Given the description of an element on the screen output the (x, y) to click on. 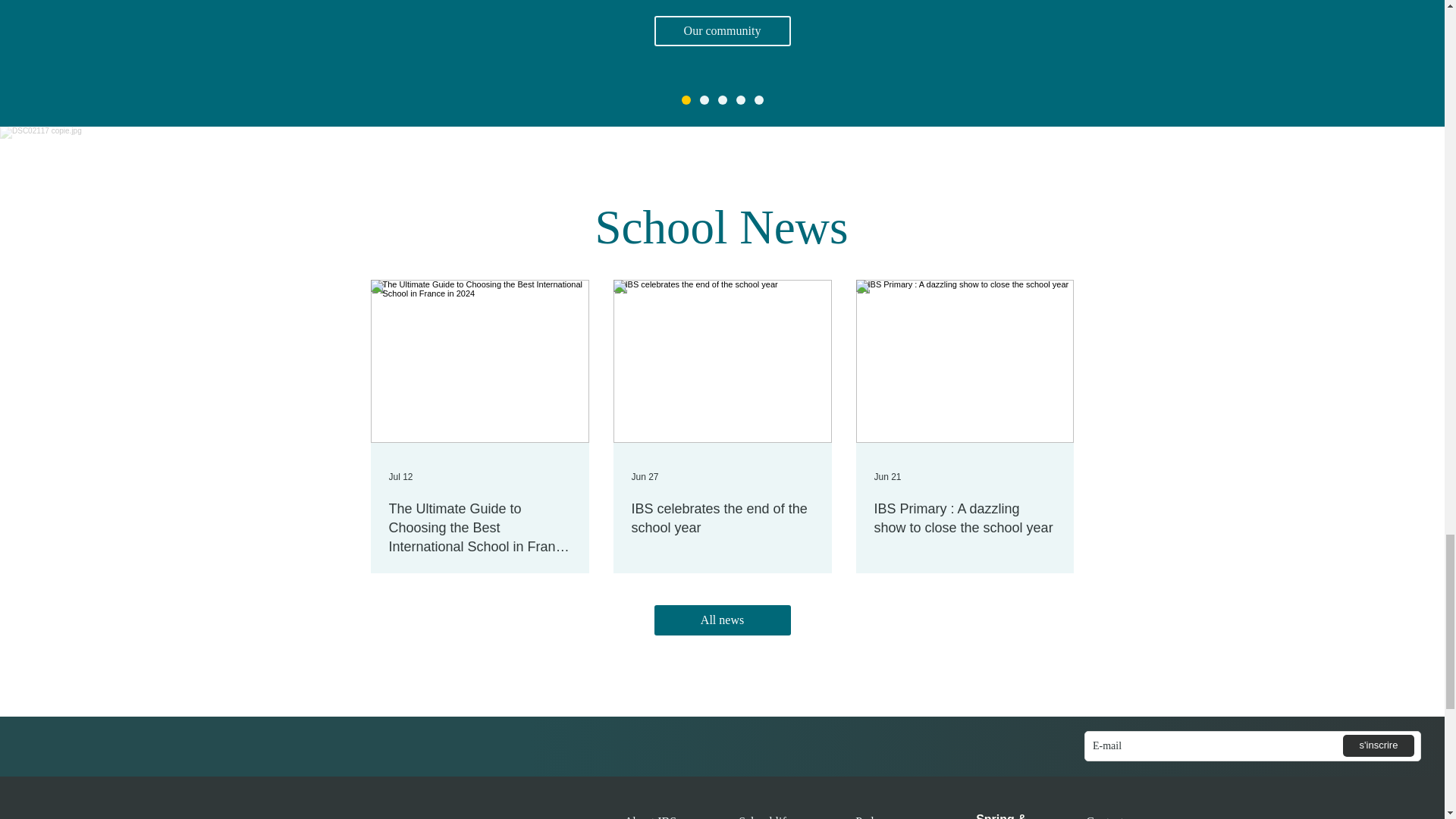
Jun 27 (644, 476)
Jul 12 (400, 476)
Jun 21 (887, 476)
